Given the description of an element on the screen output the (x, y) to click on. 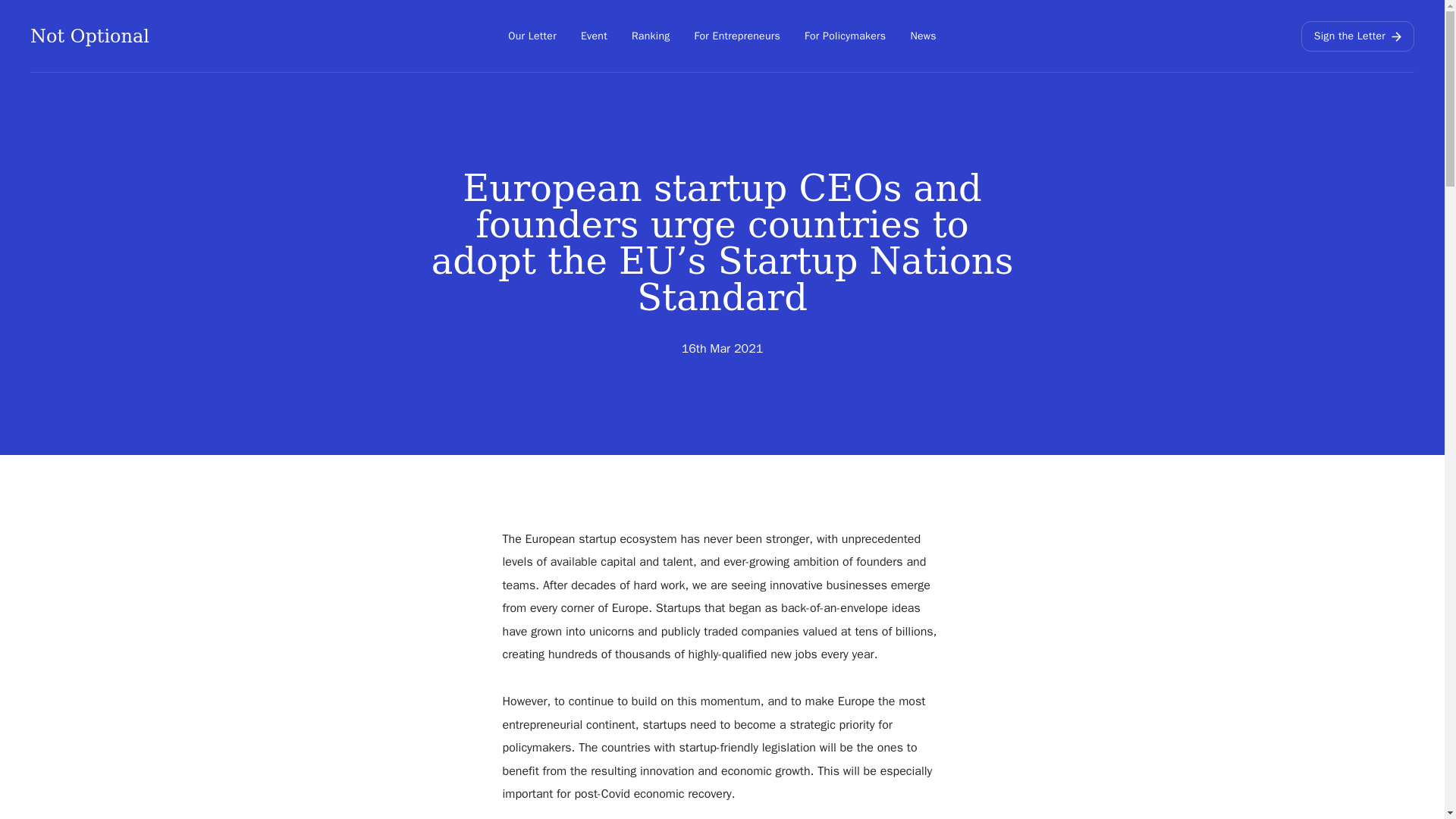
For Policymakers (845, 36)
Sign the Letter (1357, 36)
For Entrepreneurs (737, 36)
Not Optional (89, 36)
